Given the description of an element on the screen output the (x, y) to click on. 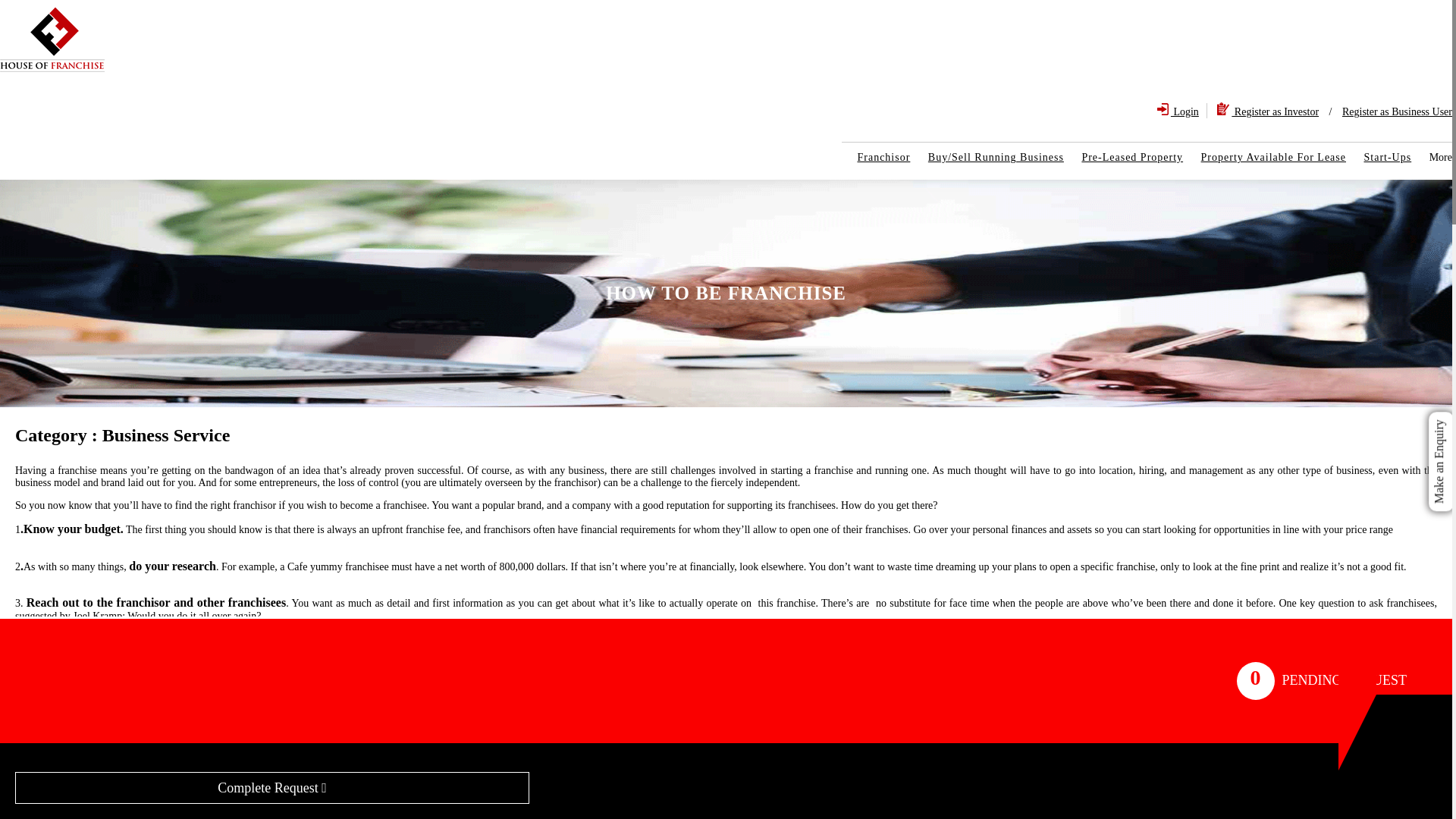
Start-Ups (1379, 157)
Register as Business User (1393, 111)
More (1432, 157)
Register as Investor (1267, 111)
Leave a message (105, 794)
Pre-Leased Property (1123, 157)
Property Available For Lease (1265, 157)
Franchisor (875, 157)
Login (1178, 111)
Make an Enquiry (1441, 425)
